Given the description of an element on the screen output the (x, y) to click on. 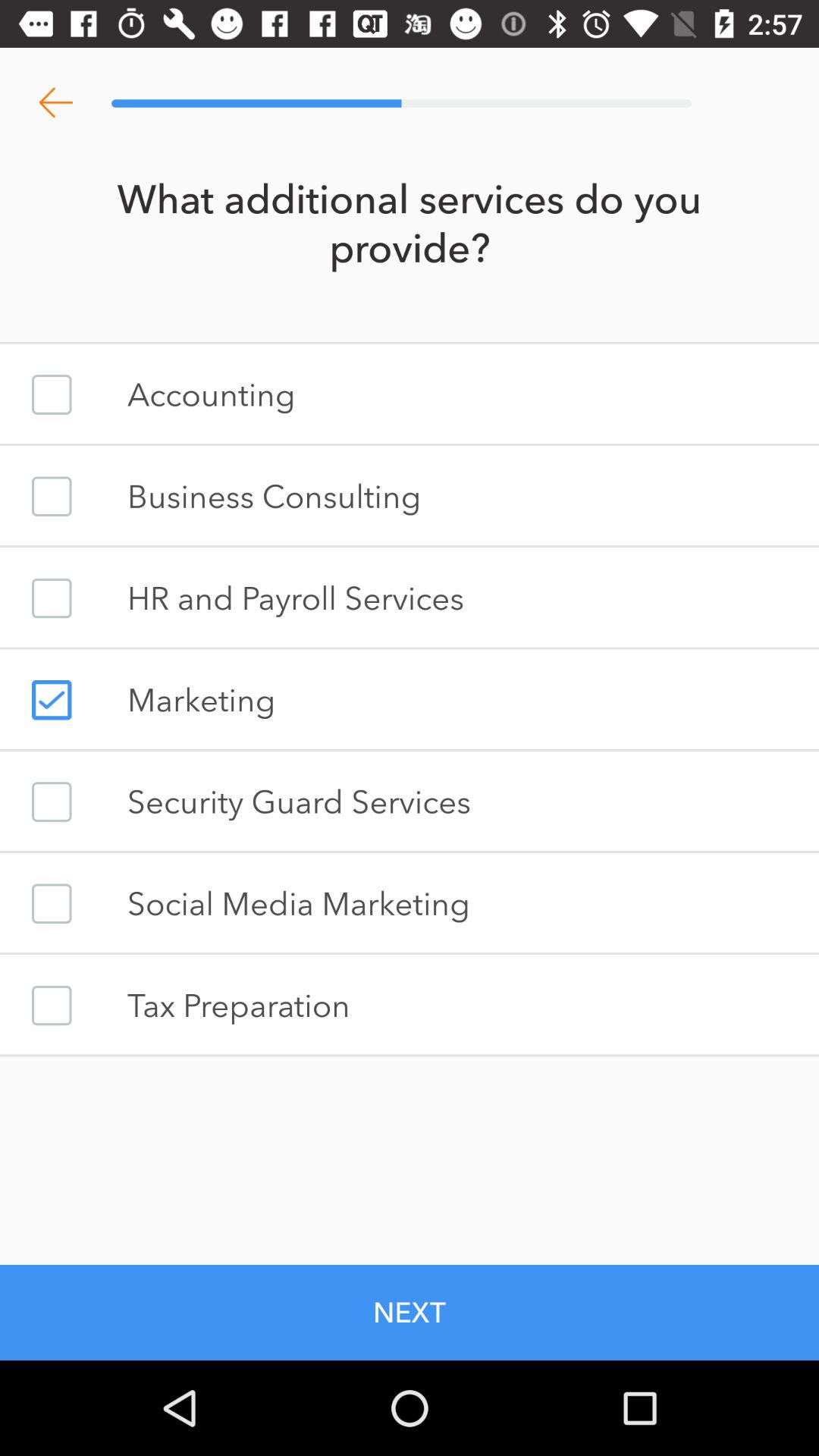
check box indicating for business consulting option (51, 496)
